Given the description of an element on the screen output the (x, y) to click on. 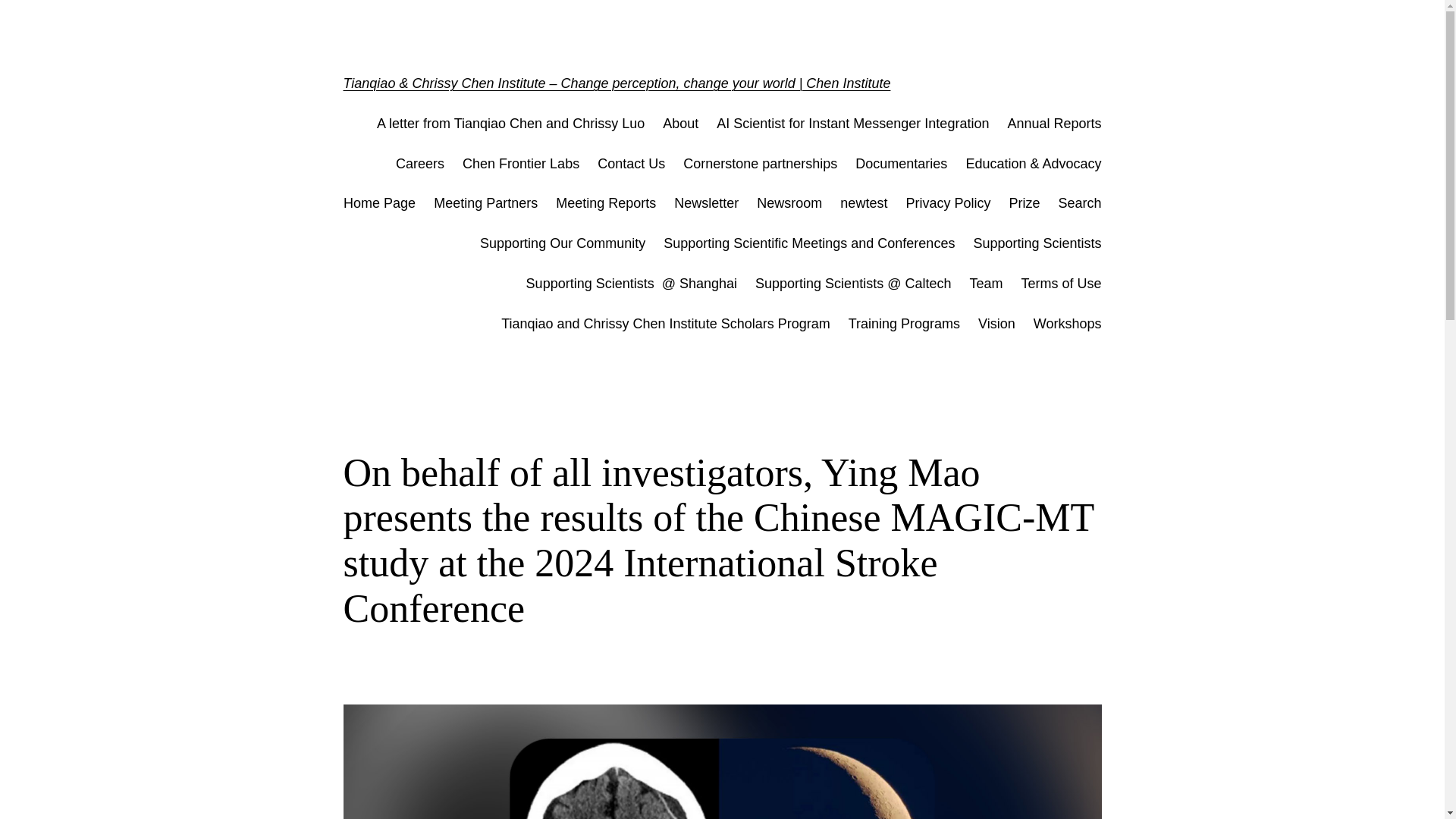
Privacy Policy (947, 203)
Newsroom (789, 203)
Meeting Reports (606, 203)
Team (986, 283)
Training Programs (903, 323)
Supporting Our Community (562, 243)
Chen Frontier Labs (521, 164)
Supporting Scientists (1036, 243)
A letter from Tianqiao Chen and Chrissy Luo (511, 124)
Careers (420, 164)
